Given the description of an element on the screen output the (x, y) to click on. 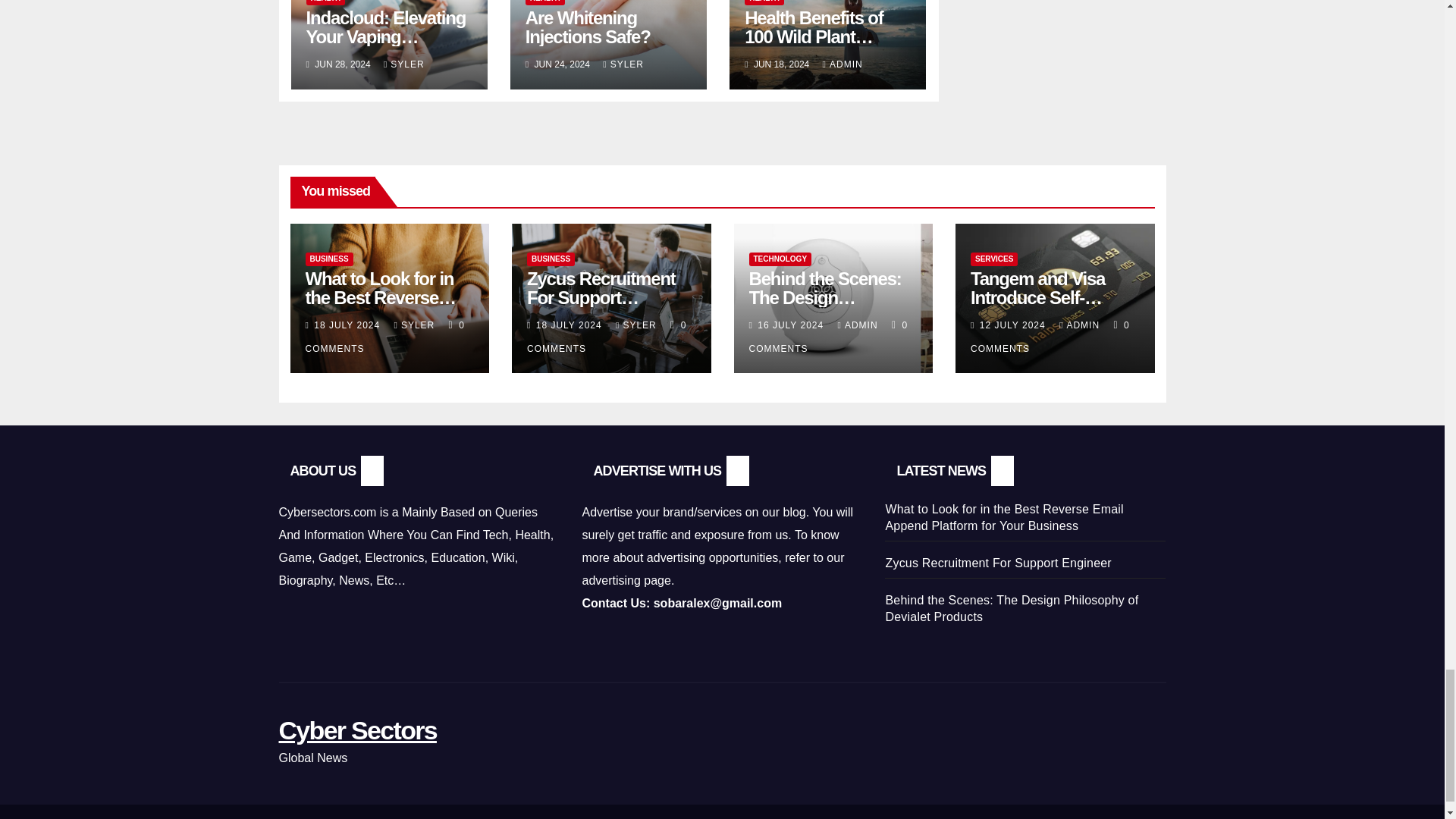
Permalink to: Zycus Recruitment For Support Engineer (601, 297)
HEALTH (325, 2)
Permalink to: Are Whitening Injections Safe? (587, 26)
